Given the description of an element on the screen output the (x, y) to click on. 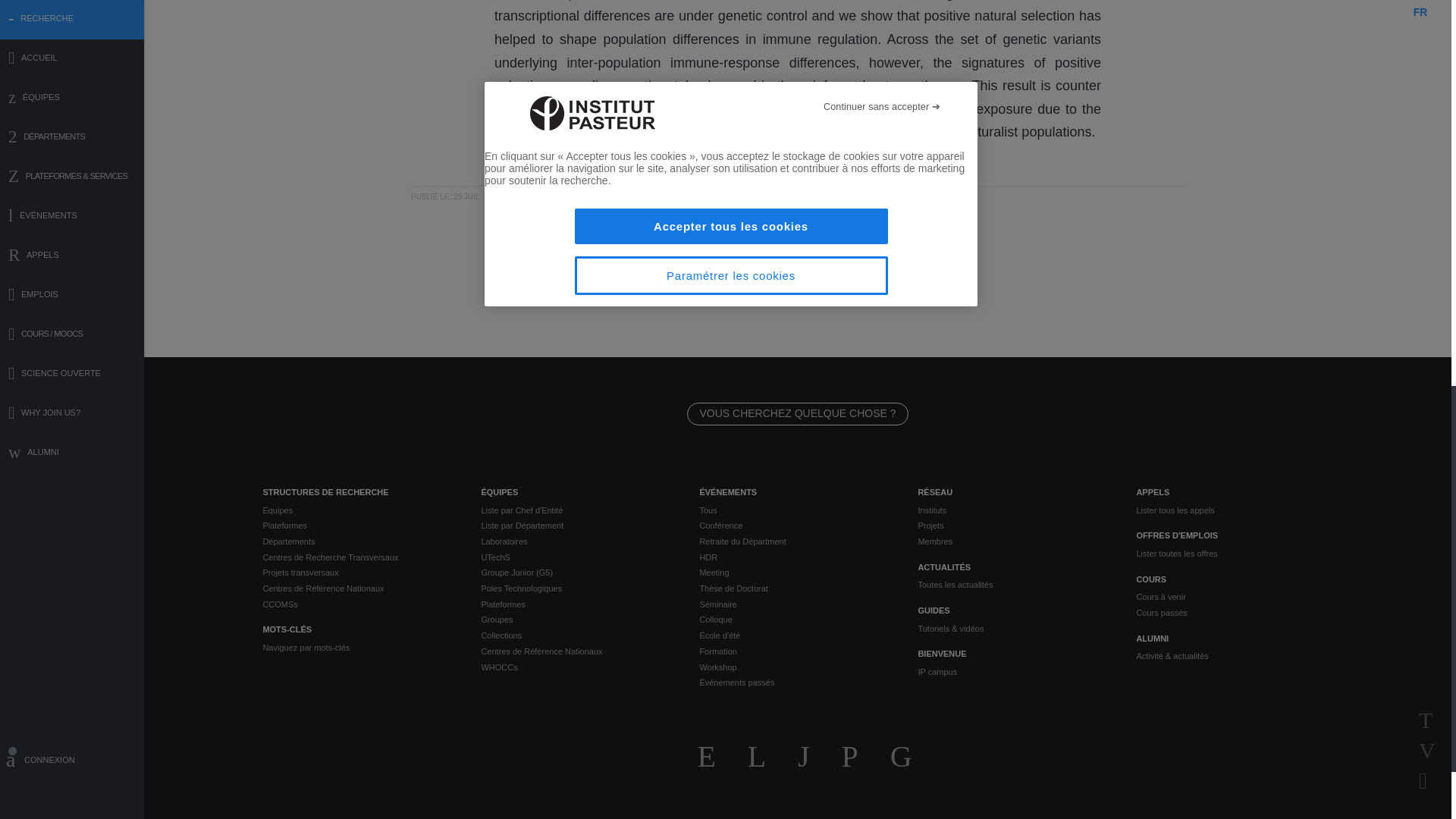
Plateformes (360, 525)
